Given the description of an element on the screen output the (x, y) to click on. 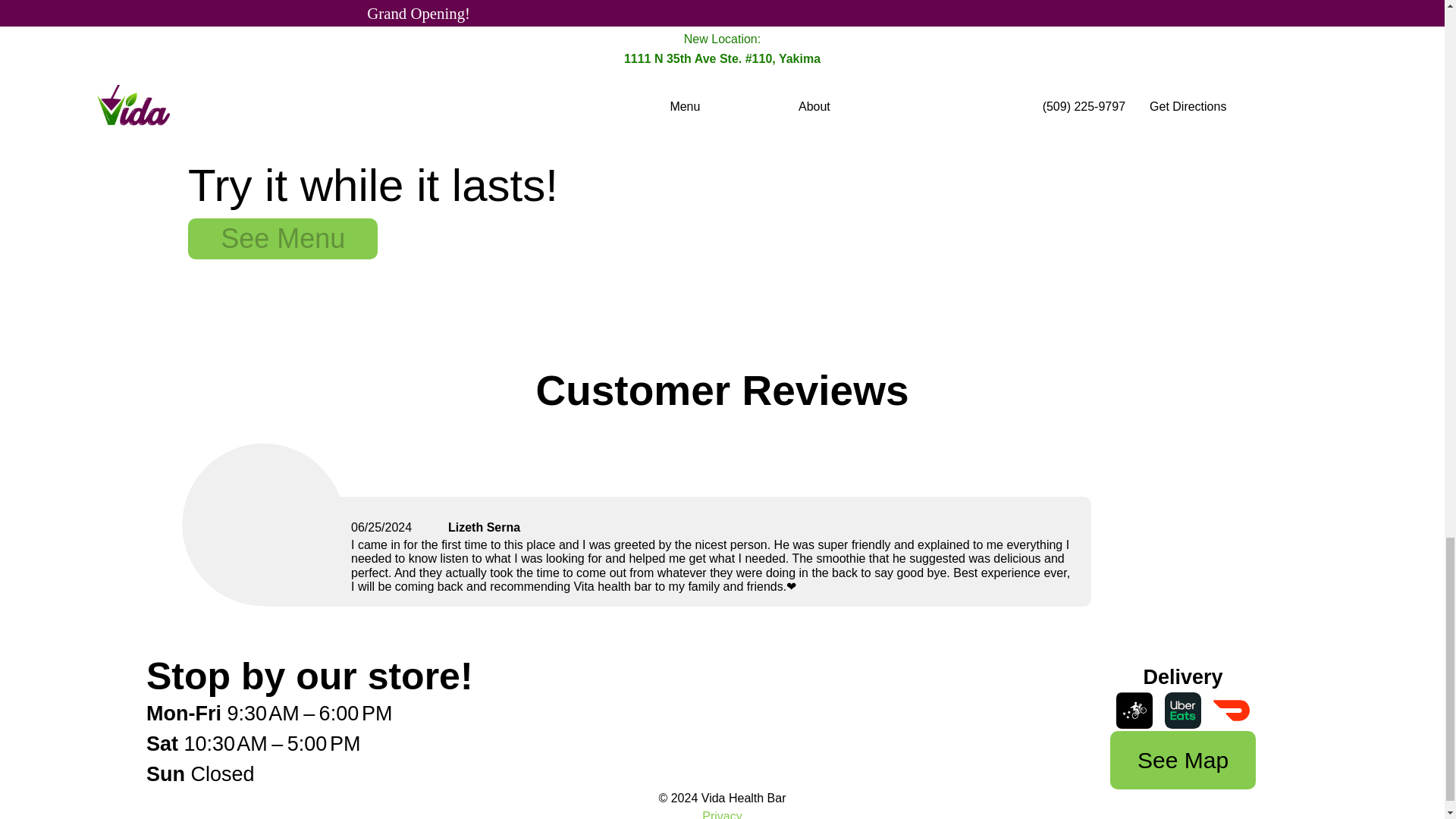
See Menu (282, 242)
See Map (1182, 760)
Privacy (721, 814)
See Menu (282, 238)
See Map (1182, 763)
